Given the description of an element on the screen output the (x, y) to click on. 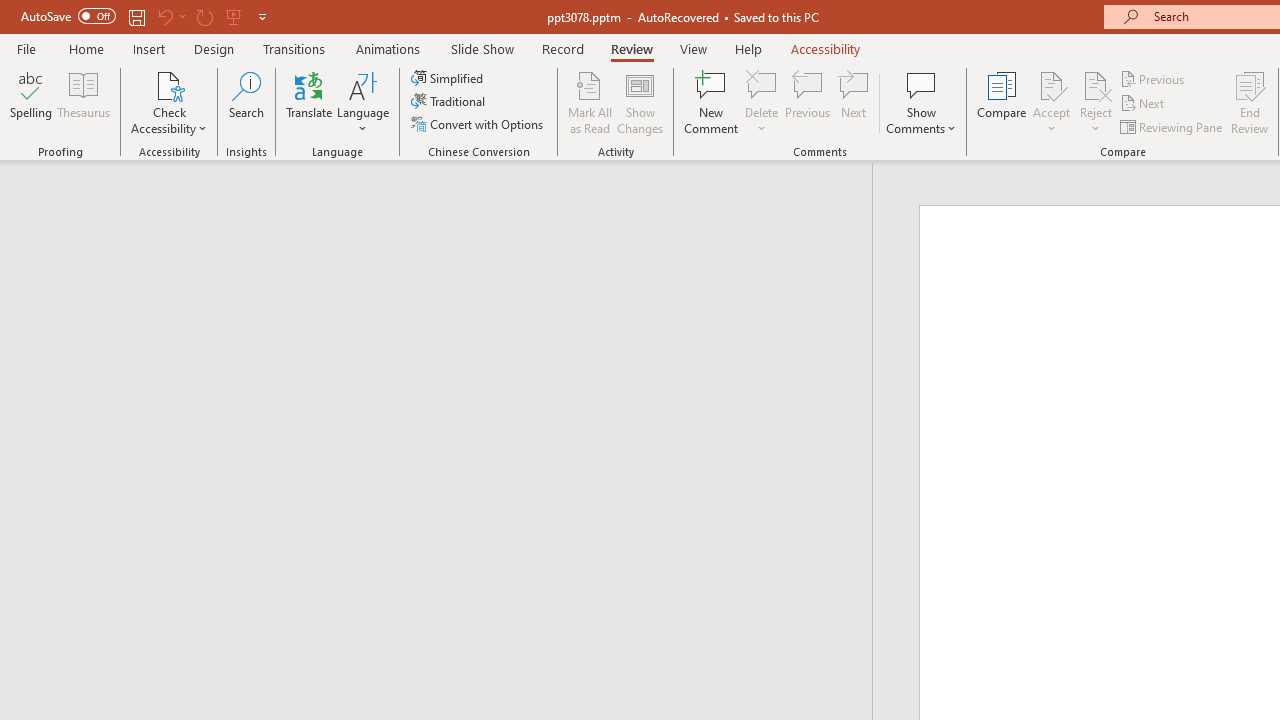
Accept Change (1051, 84)
Simplified (449, 78)
New Comment (711, 102)
Traditional (449, 101)
Previous (1153, 78)
